Given the description of an element on the screen output the (x, y) to click on. 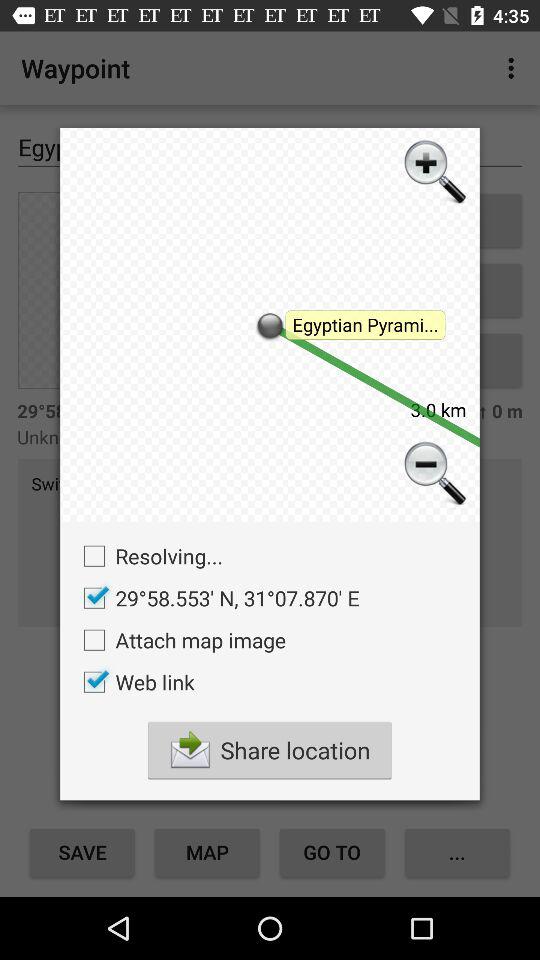
click the checkbox below the web link checkbox (269, 750)
